Given the description of an element on the screen output the (x, y) to click on. 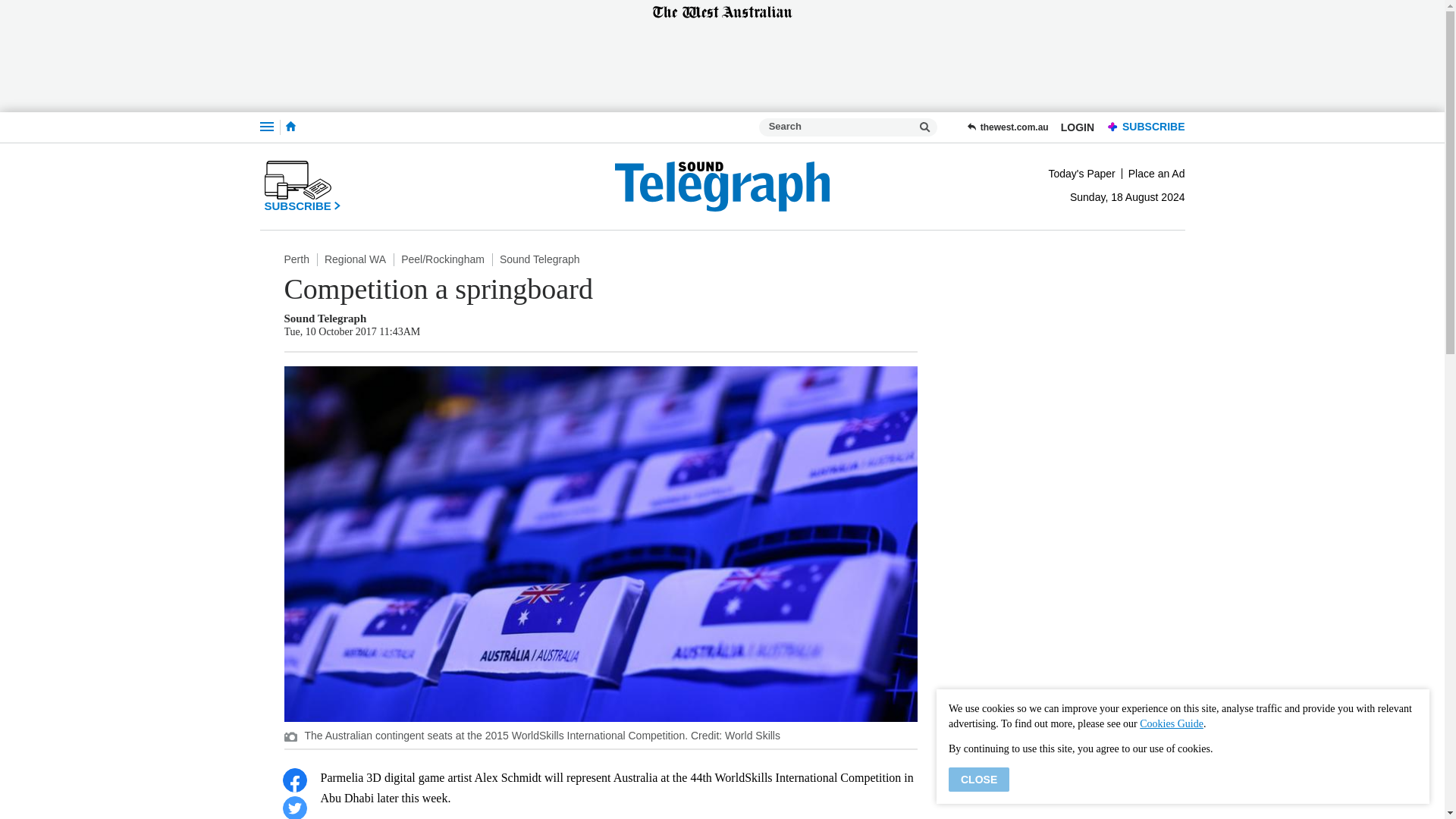
Home (290, 126)
PREMIUMSUBSCRIBE (1142, 127)
Home (290, 126)
thewest.com.au (1007, 127)
SUBSCRIBE CHEVRON RIGHT ICON (302, 185)
PREMIUM (1112, 126)
Please enter a search term. (924, 127)
LOGIN (1077, 127)
